Given the description of an element on the screen output the (x, y) to click on. 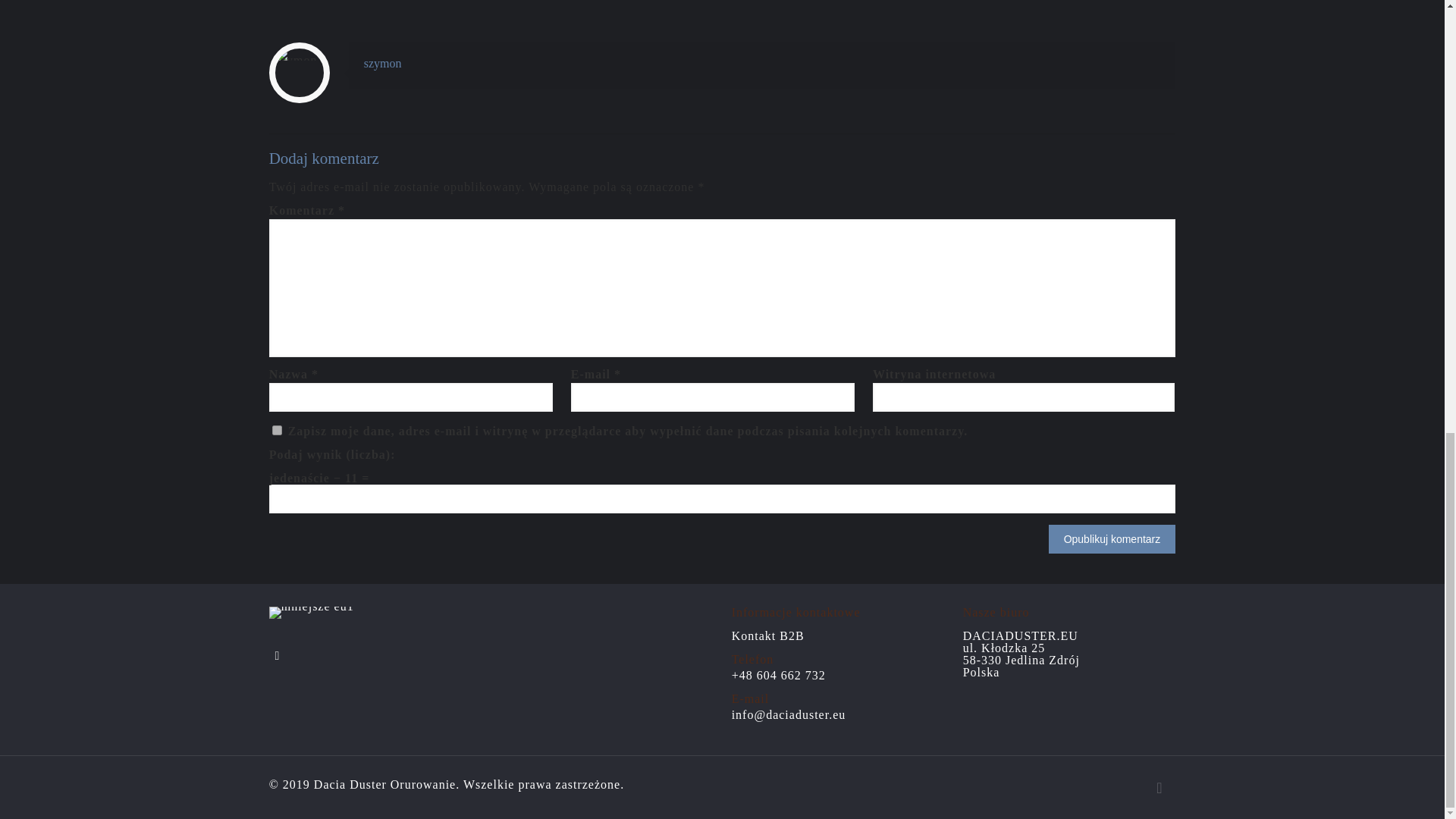
Opublikuj komentarz (1112, 538)
mniejsze eu1 (311, 612)
Opublikuj komentarz (1112, 538)
szymon (382, 62)
yes (277, 429)
